Given the description of an element on the screen output the (x, y) to click on. 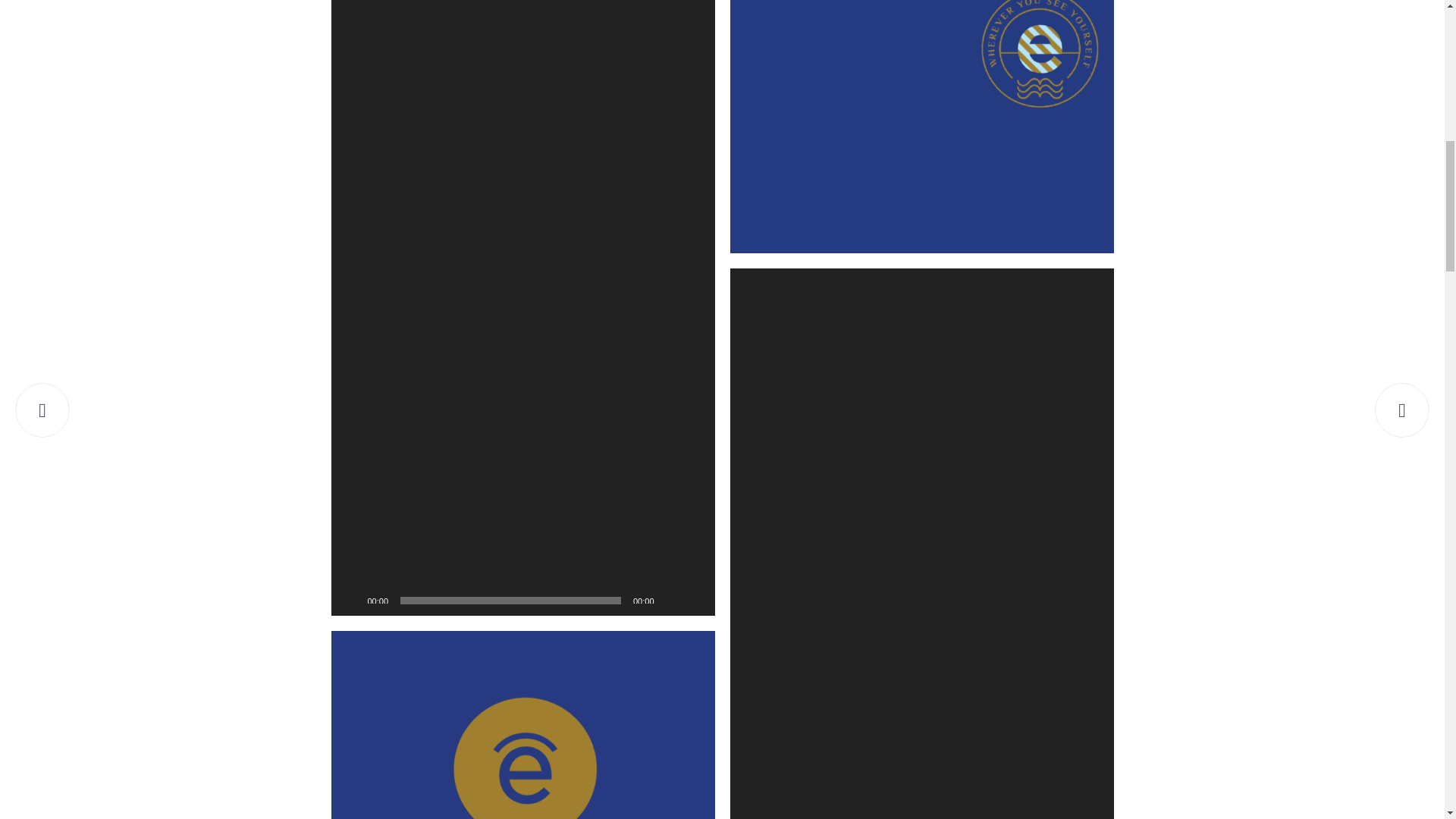
Play (350, 600)
Envision-img-7 (522, 724)
Mute (670, 600)
Fullscreen (694, 600)
envision logo (921, 126)
